Given the description of an element on the screen output the (x, y) to click on. 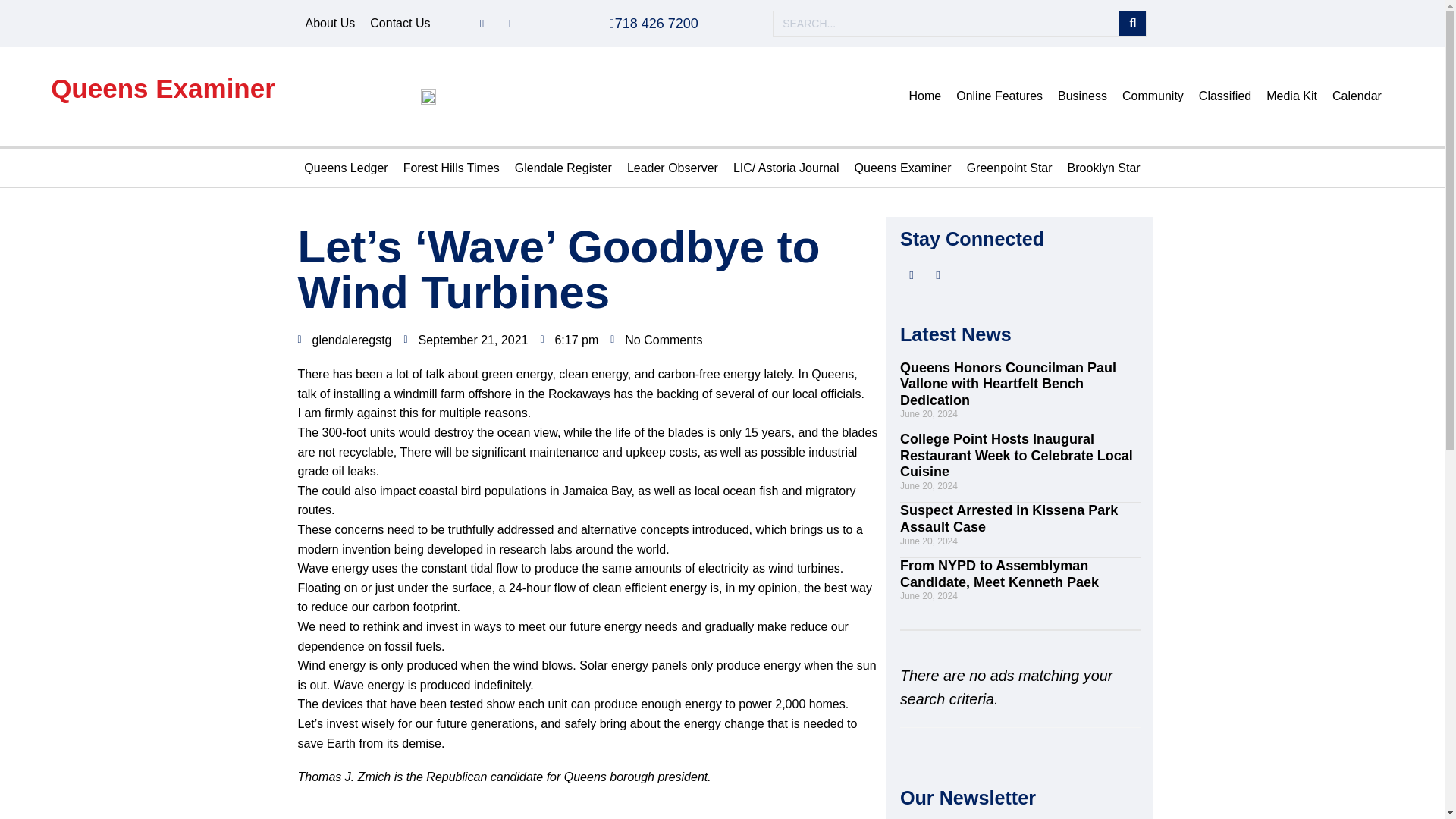
Community (1153, 96)
Queens Examiner (162, 88)
About Us (329, 23)
Contact Us (400, 23)
Home (925, 96)
Business (1082, 96)
Online Features (999, 96)
718 426 7200 (653, 23)
